Given the description of an element on the screen output the (x, y) to click on. 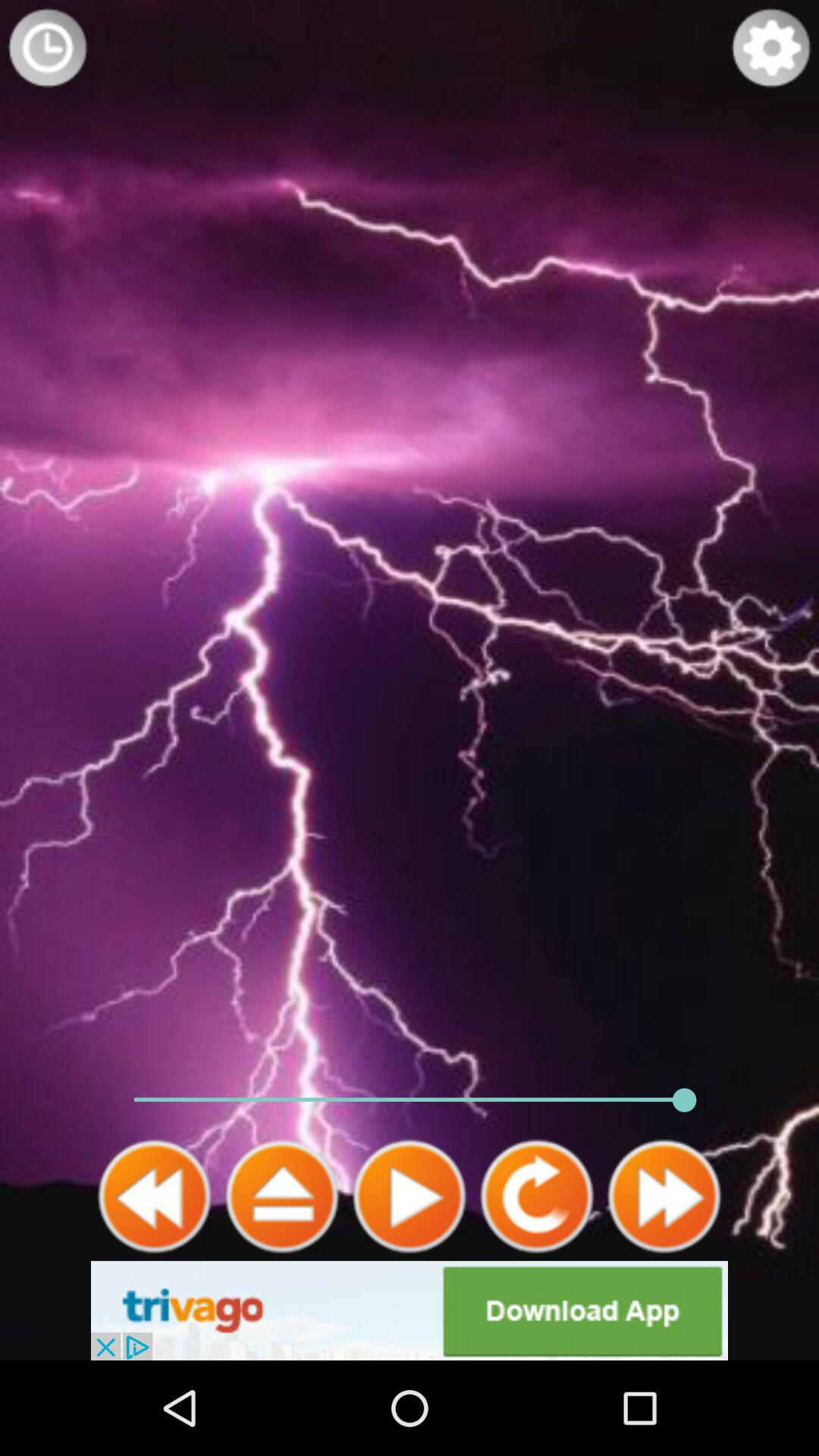
open the settings option (771, 47)
